Given the description of an element on the screen output the (x, y) to click on. 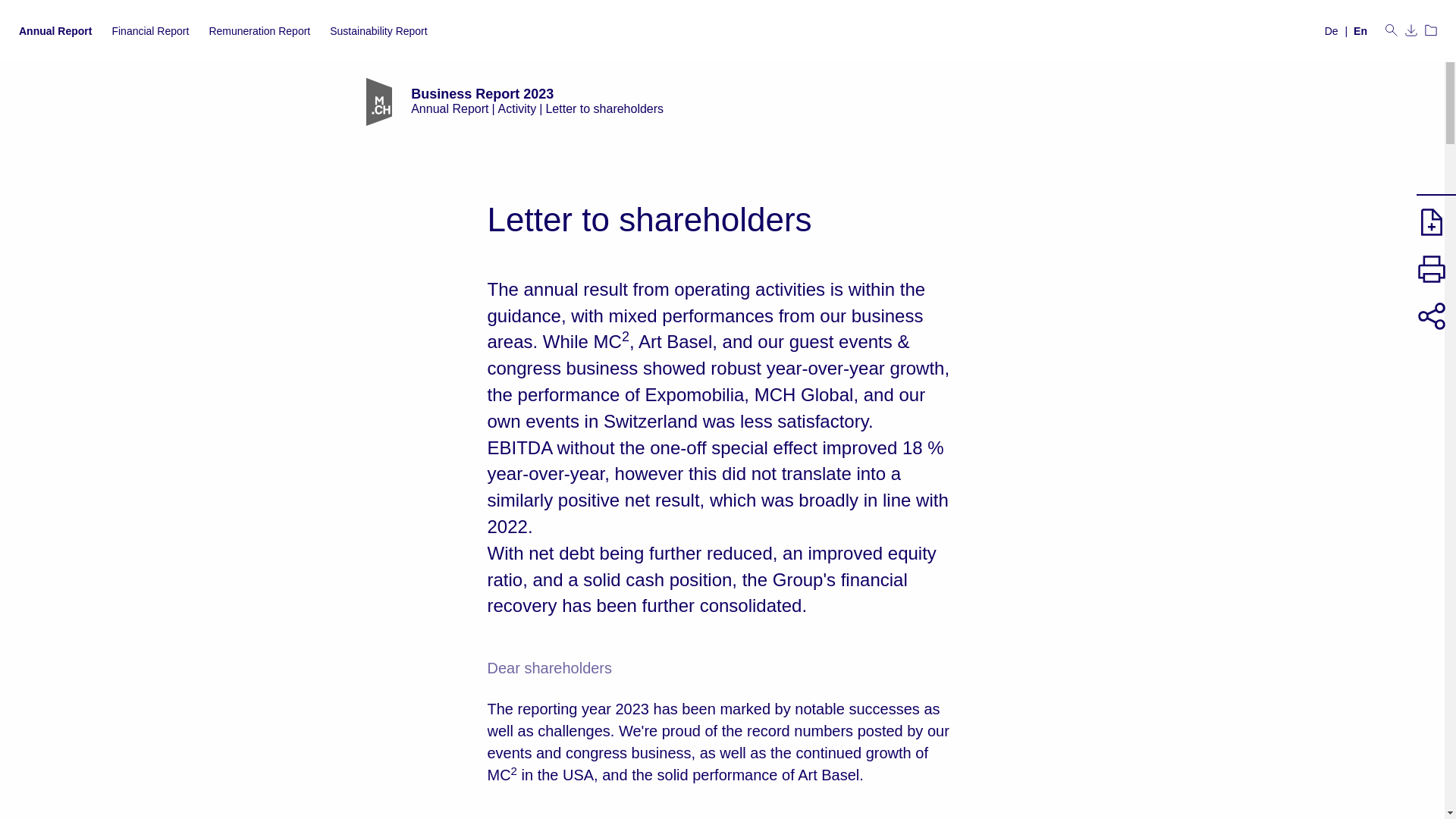
Annual Report (54, 30)
Financial Report (150, 30)
